Given the description of an element on the screen output the (x, y) to click on. 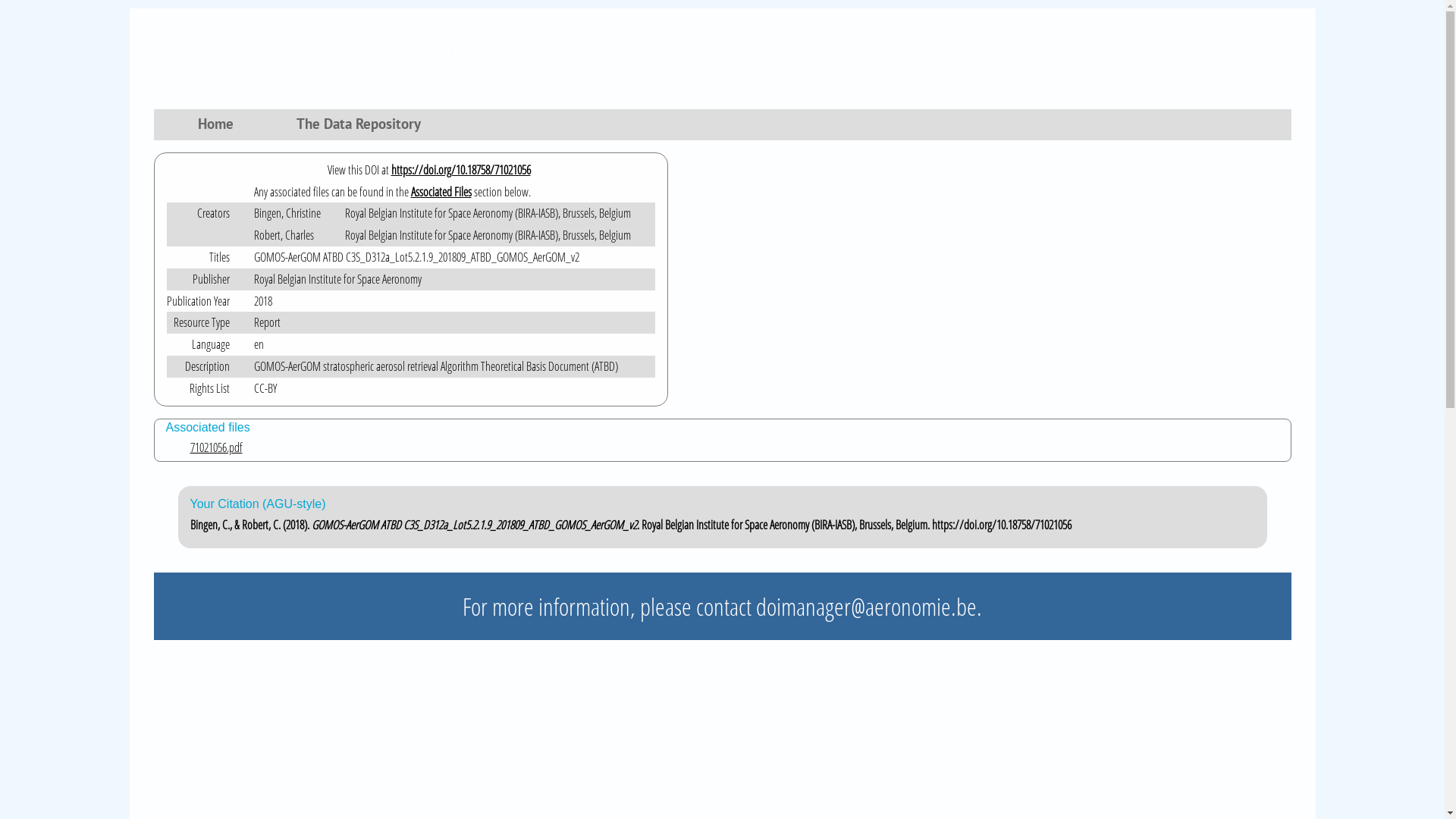
Associated Files Element type: text (441, 191)
71021056.pdf Element type: text (733, 447)
Home Element type: text (217, 127)
The Data Repository Element type: text (360, 127)
https://doi.org/10.18758/71021056 Element type: text (460, 169)
